Given the description of an element on the screen output the (x, y) to click on. 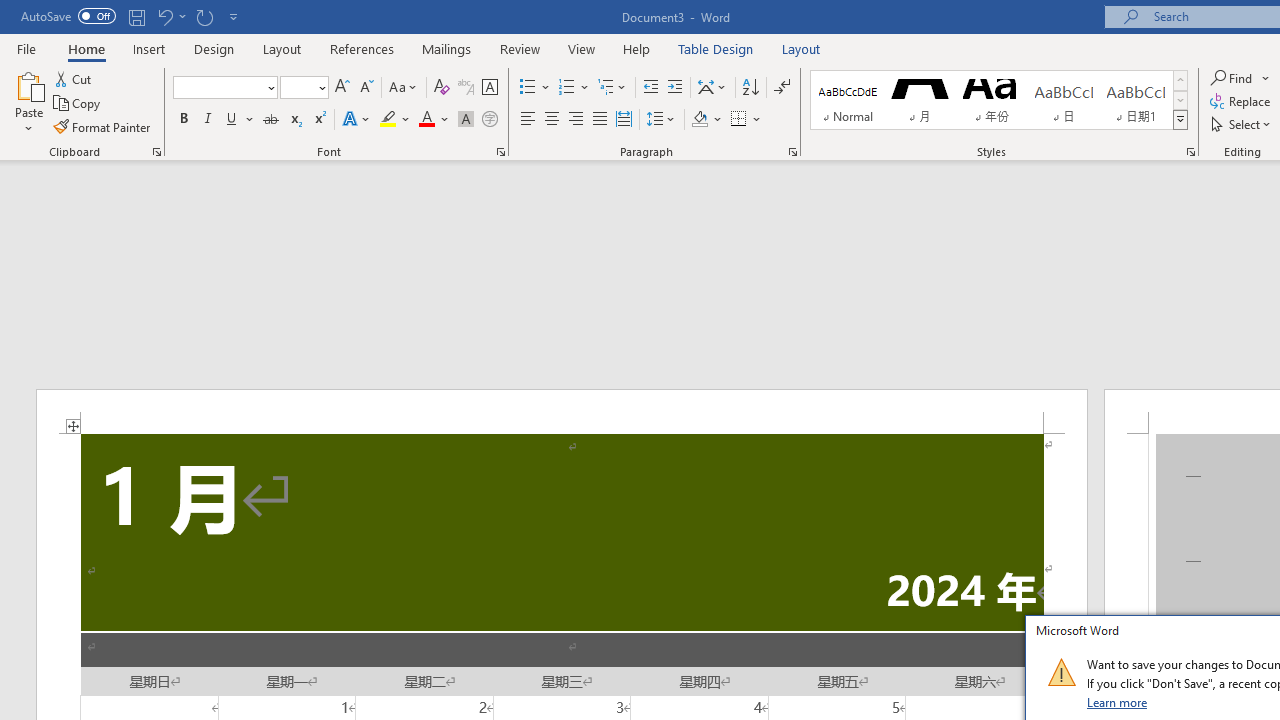
References (362, 48)
Class: NetUIImage (1061, 671)
Borders (746, 119)
Font Color RGB(255, 0, 0) (426, 119)
Find (1233, 78)
Increase Indent (675, 87)
Paste (28, 102)
Header -Section 1- (561, 411)
Align Right (575, 119)
Repeat Doc Close (204, 15)
Bullets (527, 87)
Font (218, 87)
Copy (78, 103)
Character Shading (465, 119)
